Given the description of an element on the screen output the (x, y) to click on. 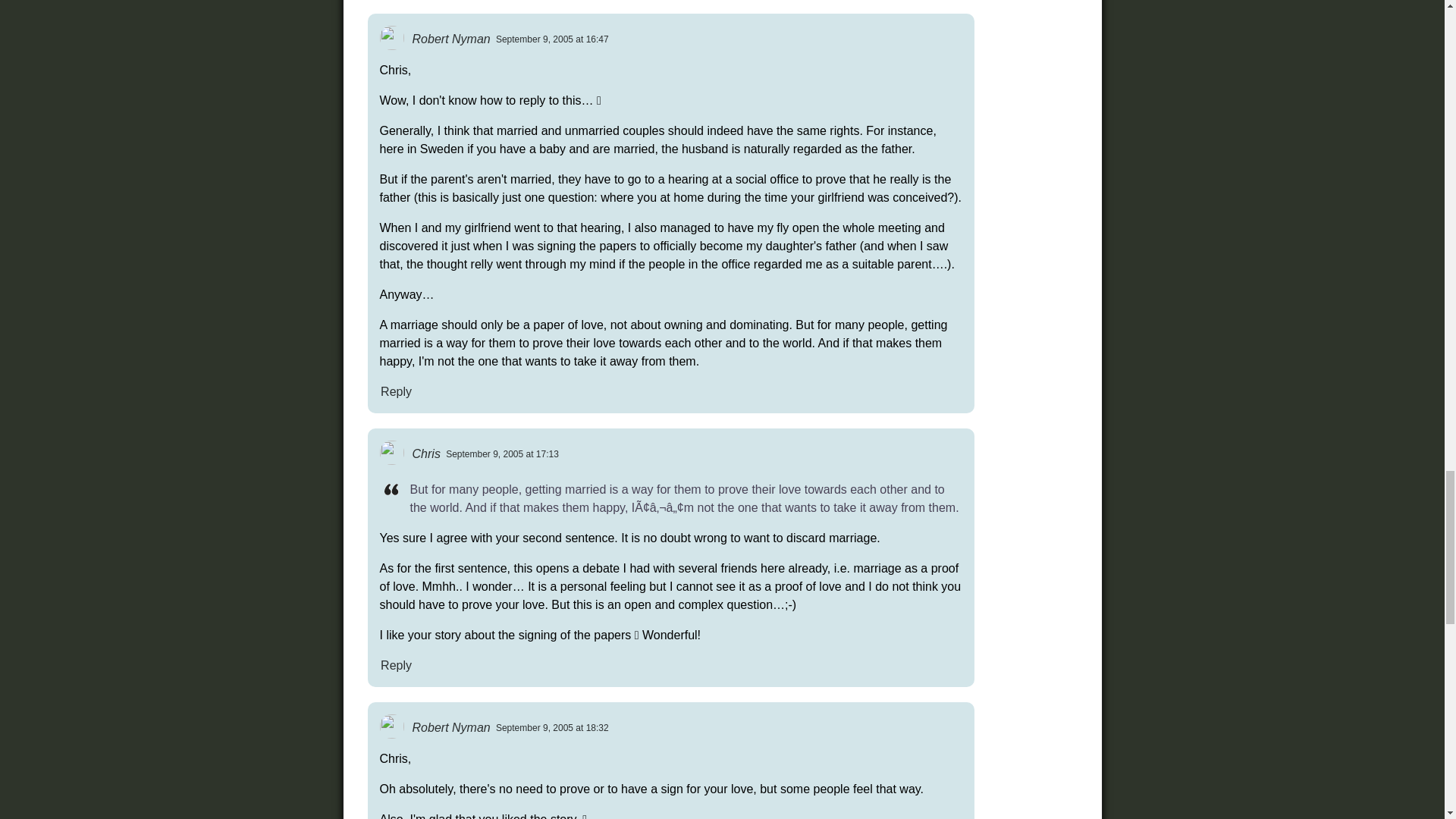
September 9, 2005 at 16:47 (552, 39)
Reply (395, 391)
September 9, 2005 at 17:13 (502, 453)
Robert Nyman (451, 38)
September 9, 2005 at 18:32 (552, 727)
Chris (426, 453)
Robert Nyman (451, 726)
Reply (395, 664)
